Given the description of an element on the screen output the (x, y) to click on. 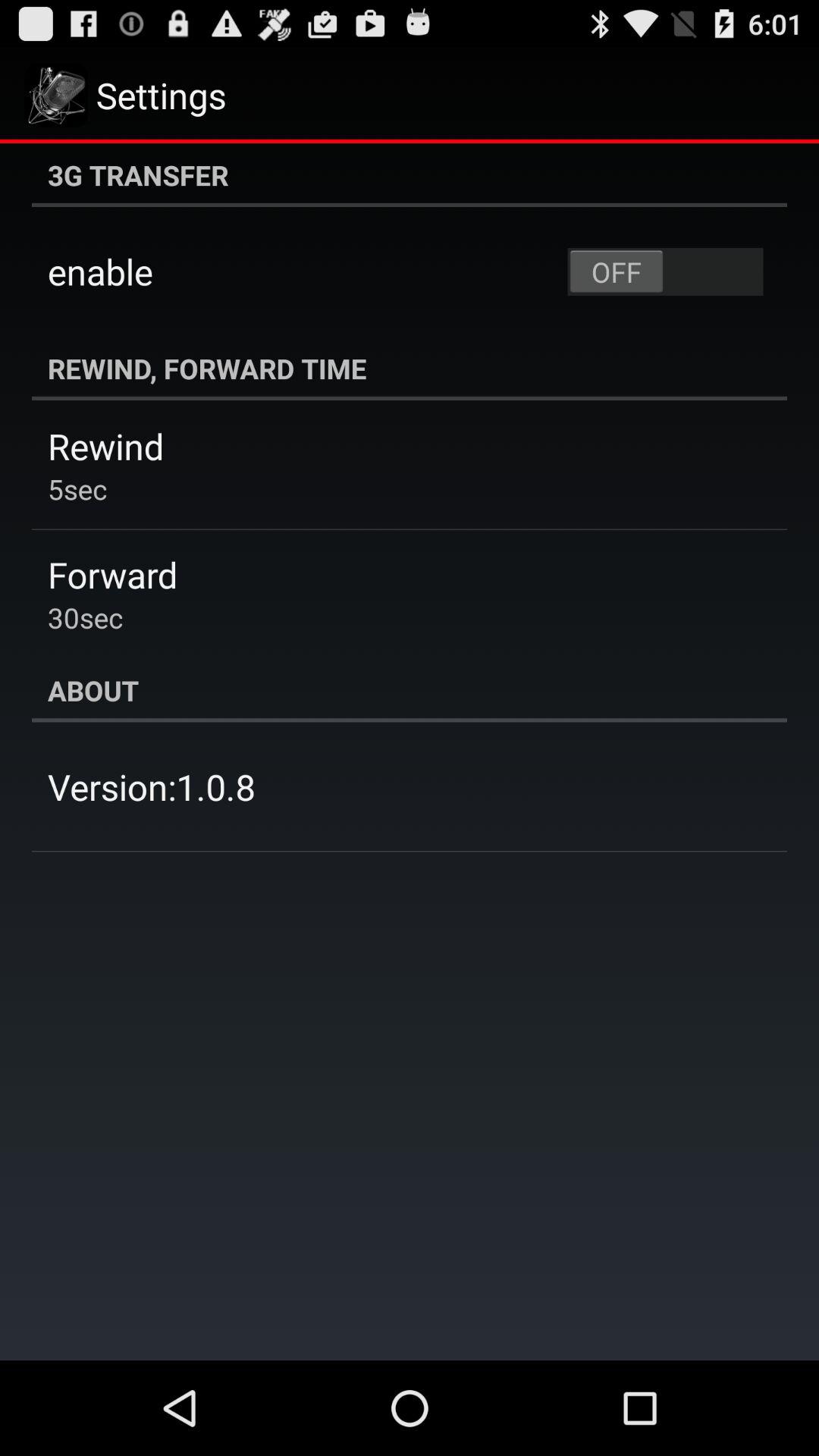
select icon below the rewind icon (77, 488)
